Given the description of an element on the screen output the (x, y) to click on. 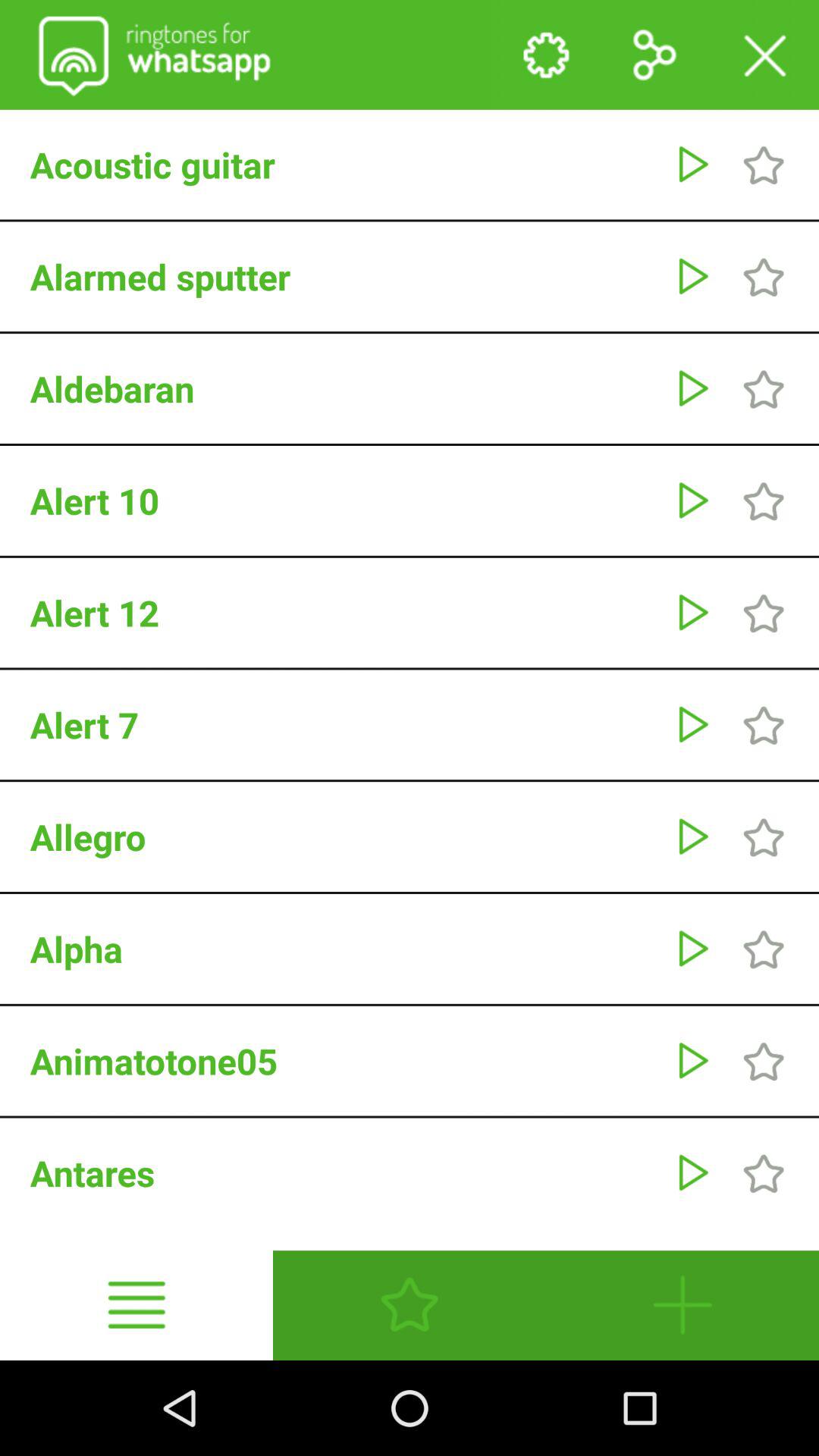
click animatotone05 app (344, 1060)
